Given the description of an element on the screen output the (x, y) to click on. 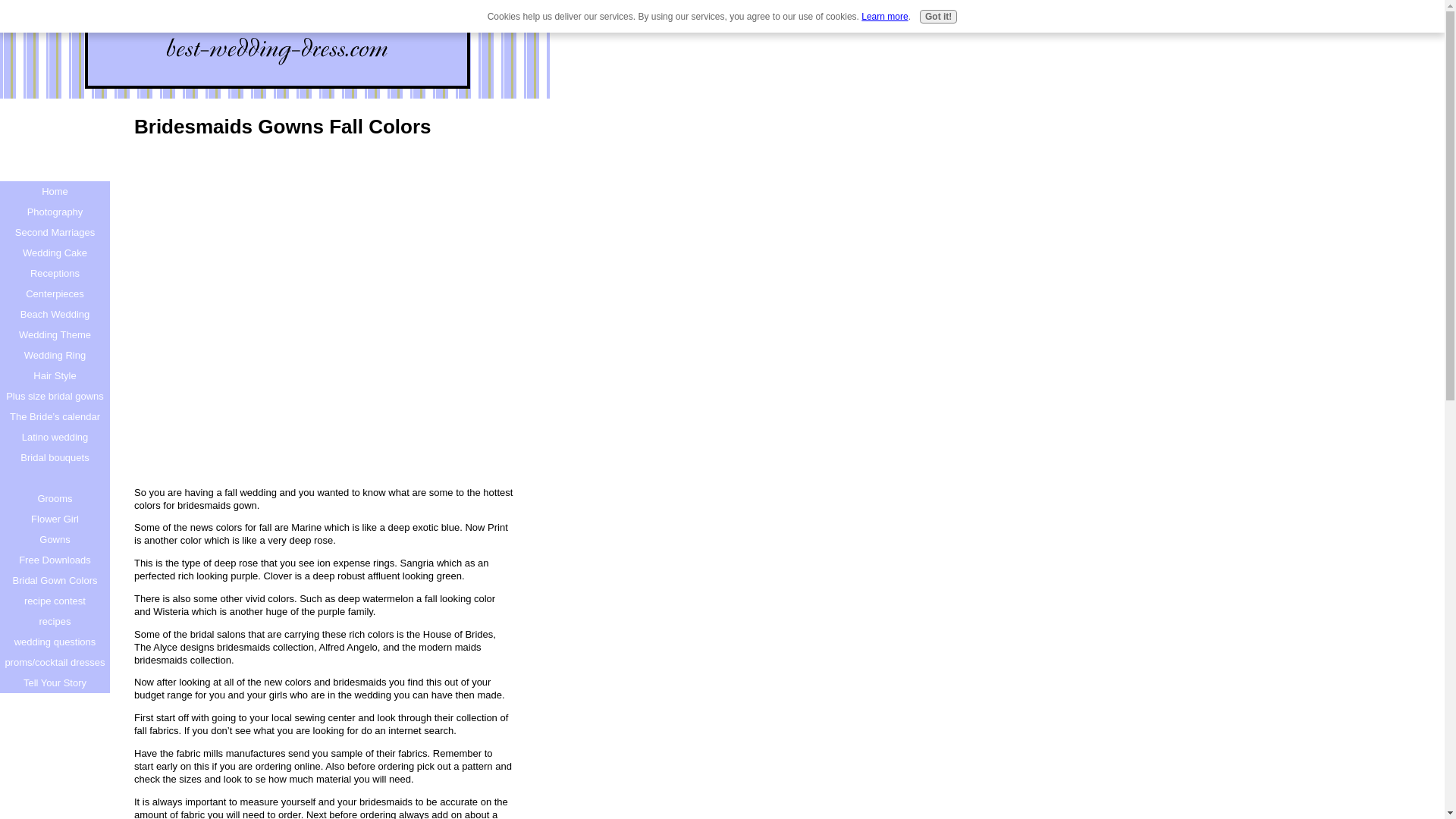
Bridal Gown Colors (55, 580)
recipe contest (55, 600)
Latino wedding (55, 436)
Home (55, 190)
Beach Wedding (55, 313)
Tell Your Story (55, 682)
Second Marriages (55, 231)
Wedding Ring (55, 354)
Photography (55, 211)
wedding questions (55, 641)
Wedding Theme (55, 334)
Centerpieces (55, 293)
Grooms (55, 498)
Hair Style (55, 375)
Receptions (55, 272)
